Given the description of an element on the screen output the (x, y) to click on. 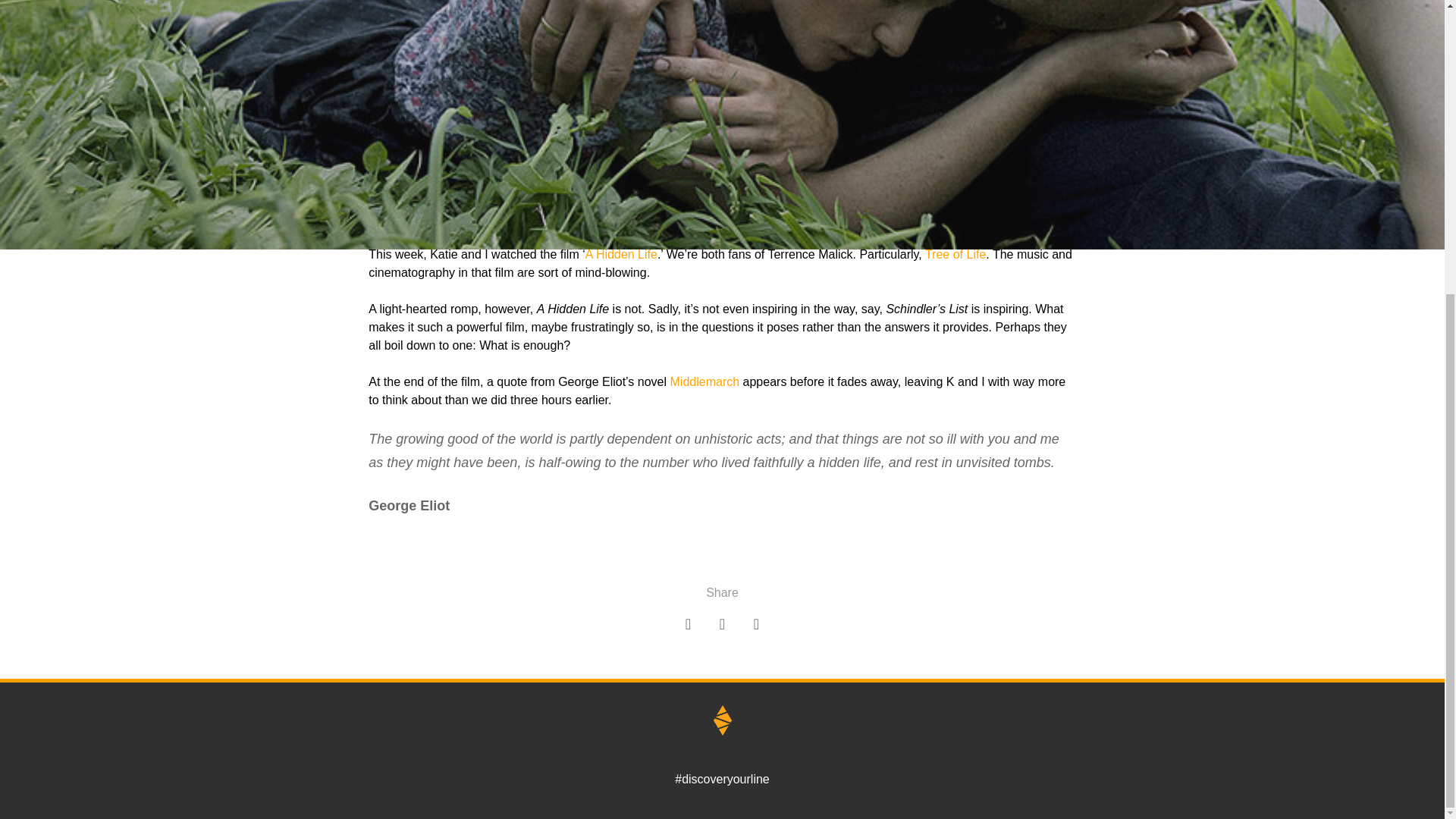
Middlemarch (704, 381)
A Hidden Life (621, 254)
Tree of Life (954, 254)
